Given the description of an element on the screen output the (x, y) to click on. 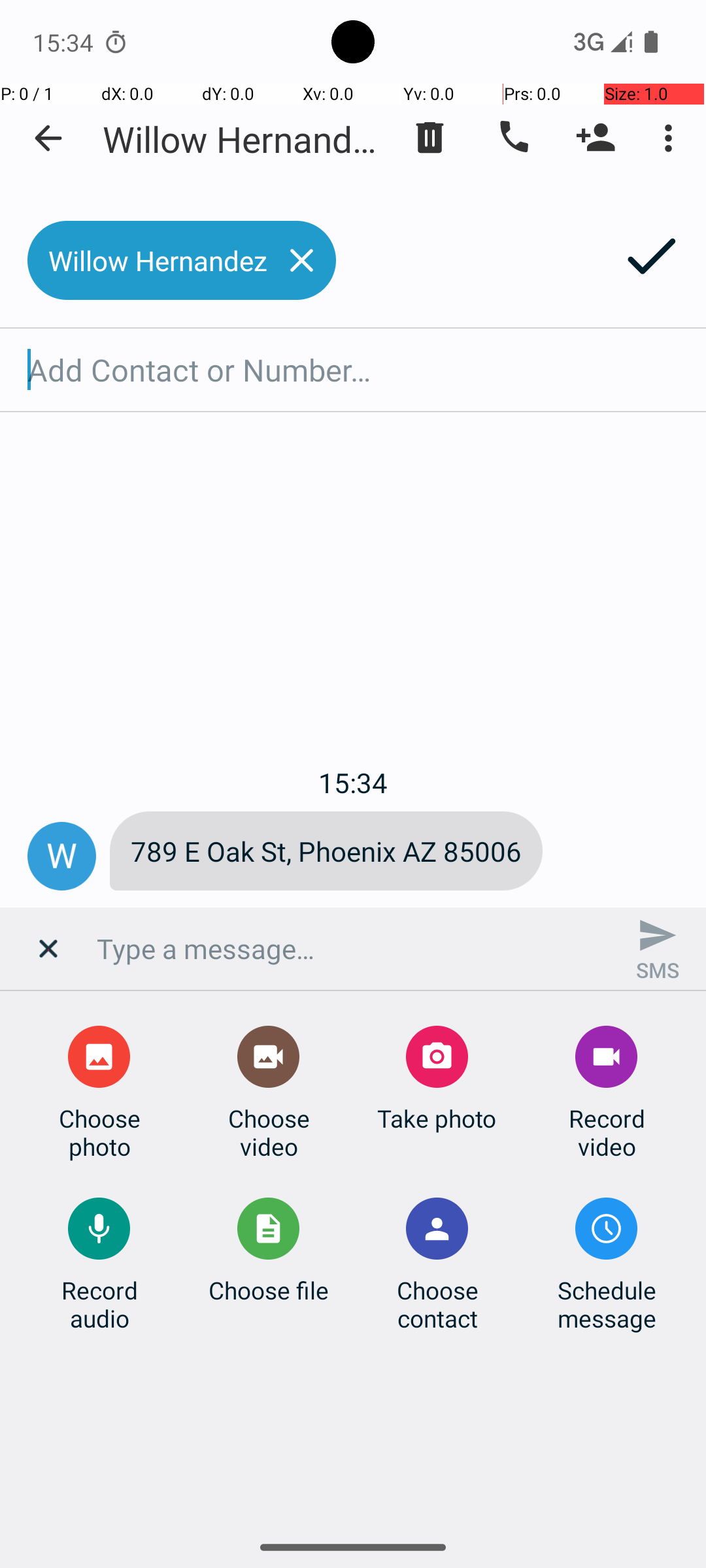
Willow Hernandez Element type: android.widget.TextView (241, 138)
789 E Oak St, Phoenix AZ 85006 Element type: android.widget.TextView (325, 850)
